Given the description of an element on the screen output the (x, y) to click on. 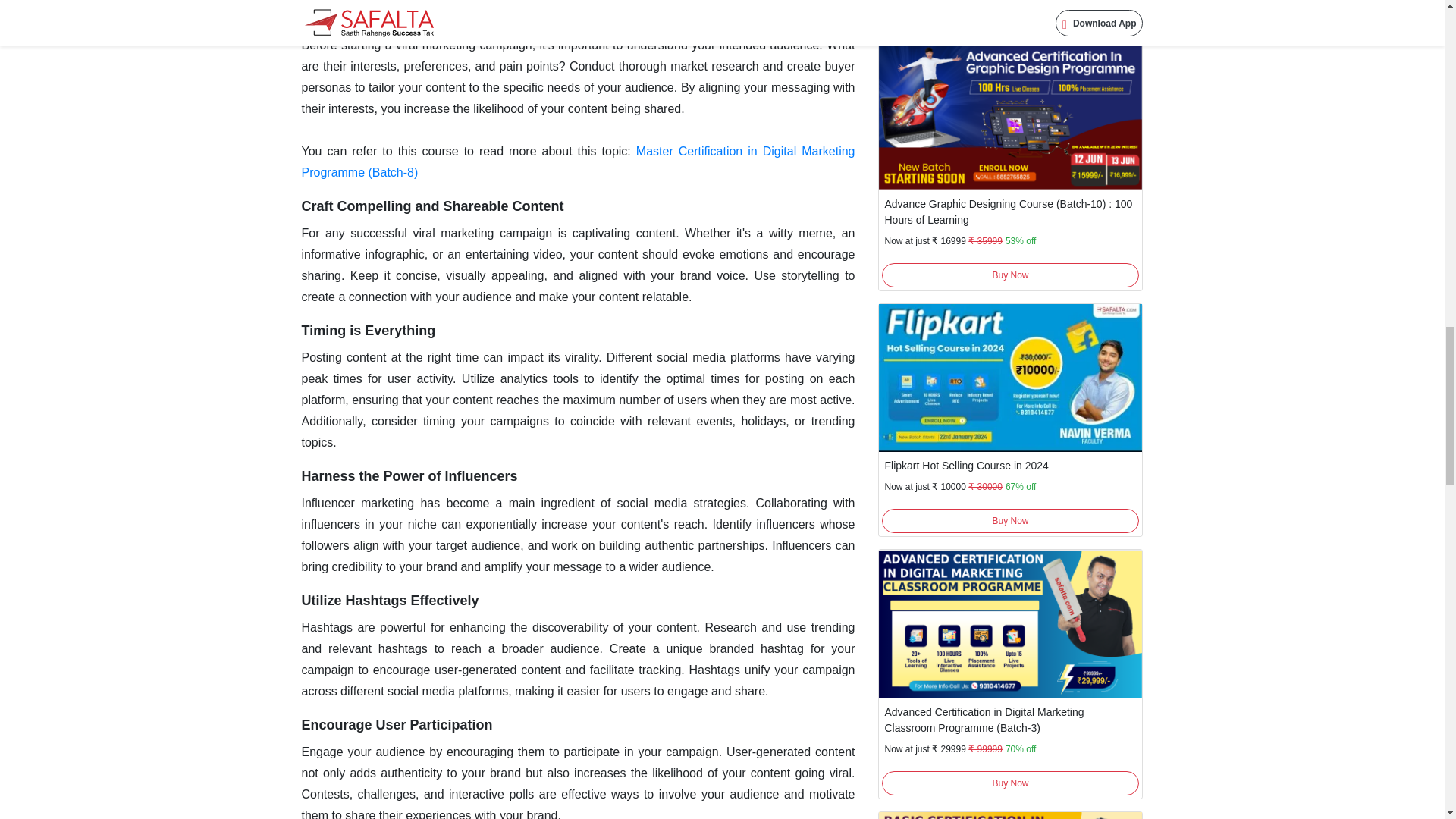
Craft Compelling and Shareable Content (432, 206)
Utilize Hashtags Effectively (390, 600)
Encourage User Participation (397, 724)
Know Your Audience (369, 17)
Timing is Everything (368, 330)
Harness the Power of Influencers (409, 476)
